Given the description of an element on the screen output the (x, y) to click on. 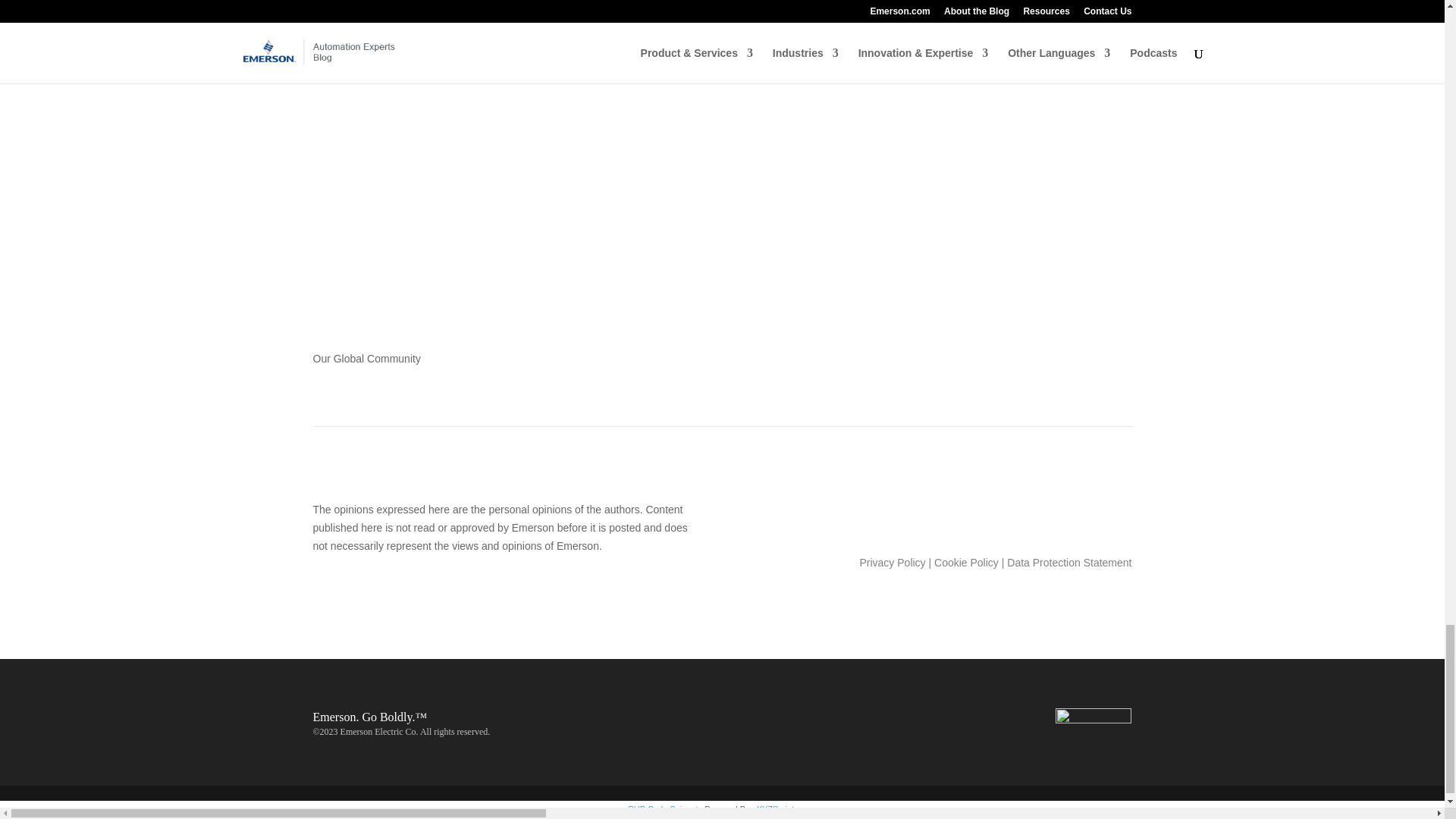
Follow on Youtube (1118, 513)
Follow on LinkedIn (1058, 513)
Insert PHP Snippet Wordpress Plugin (664, 809)
Follow on X (737, 7)
Follow on Facebook (675, 7)
Follow on Facebook (1028, 513)
Follow on Youtube (766, 7)
Follow on X (1088, 513)
Follow on LinkedIn (706, 7)
